Given the description of an element on the screen output the (x, y) to click on. 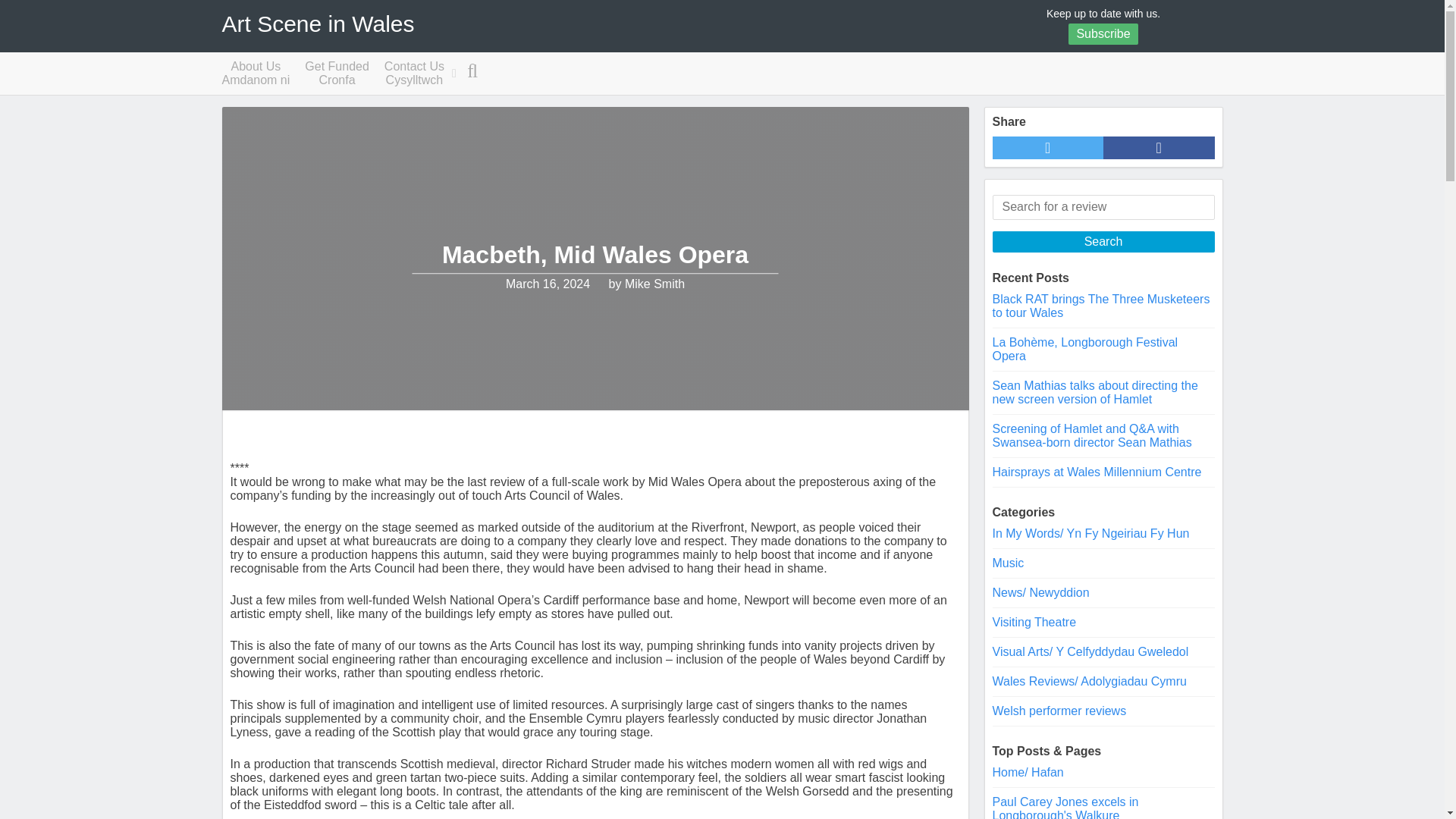
Search (1102, 241)
Paul Carey Jones excels in Longborough's Walkure (1064, 807)
Art Scene in Wales (317, 23)
Posts by Mike Smith (414, 73)
Mike Smith (654, 284)
Subscribe (654, 284)
Welsh performer reviews (255, 73)
Black RAT brings The Three Musketeers to tour Wales (1102, 34)
